Given the description of an element on the screen output the (x, y) to click on. 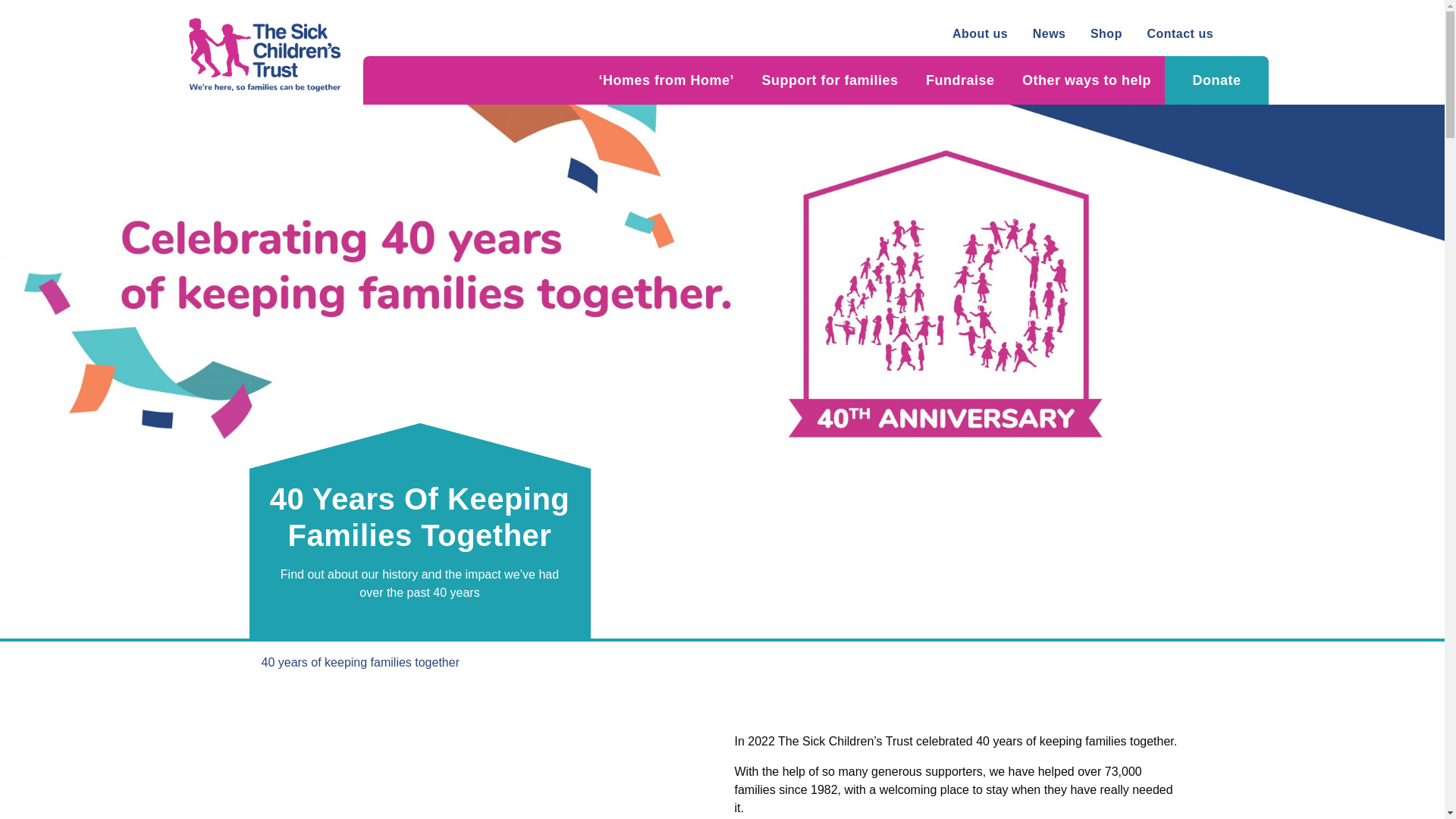
Fundraise (960, 80)
Search (1246, 34)
Shop (1106, 34)
Our 40th anniversary appeal (485, 769)
Other ways to help (1086, 80)
About us (980, 34)
Contact us (1179, 34)
News (1049, 34)
Donate (1216, 80)
Support for families (830, 80)
